Given the description of an element on the screen output the (x, y) to click on. 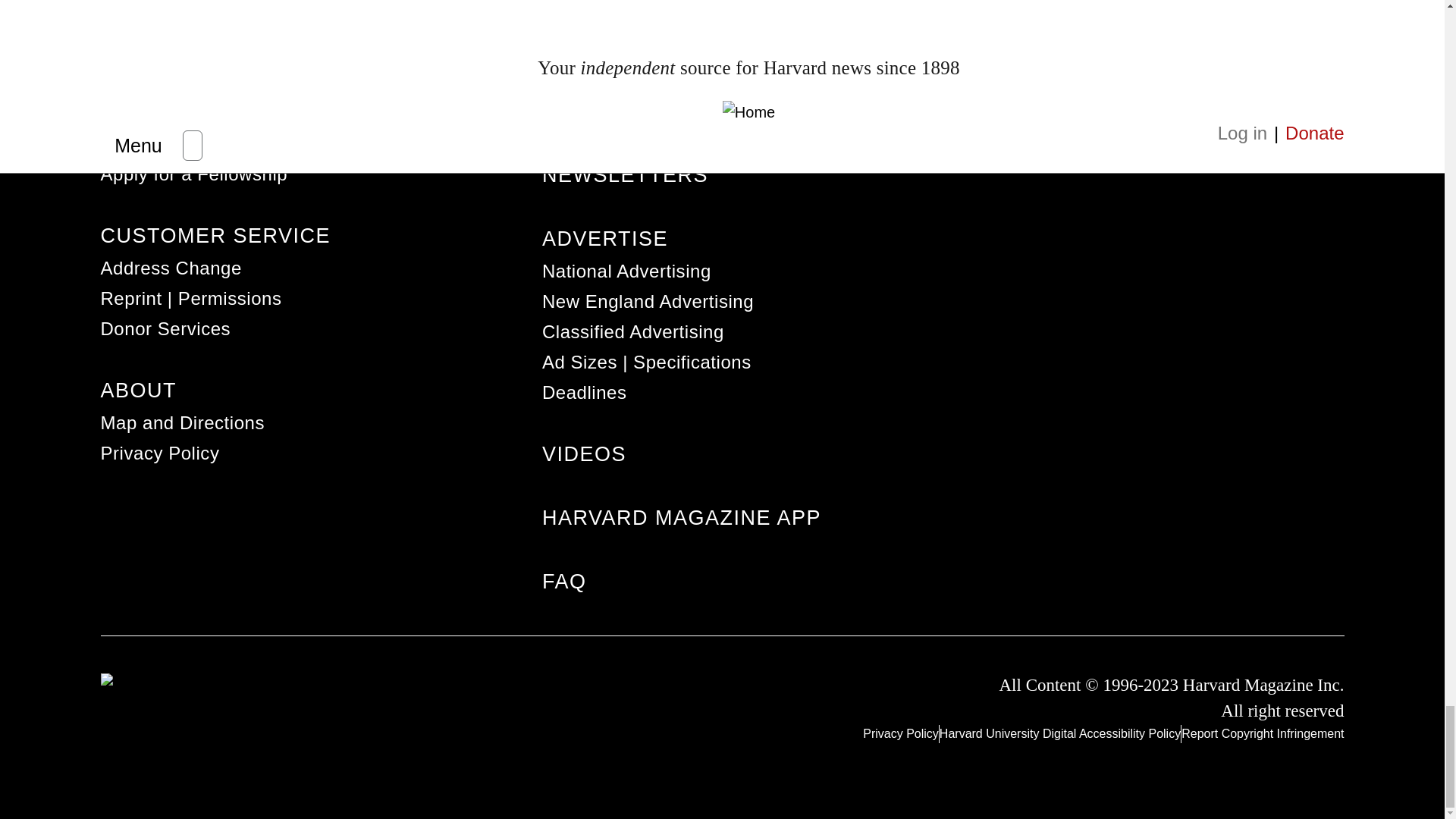
facebook (1164, 566)
